Given the description of an element on the screen output the (x, y) to click on. 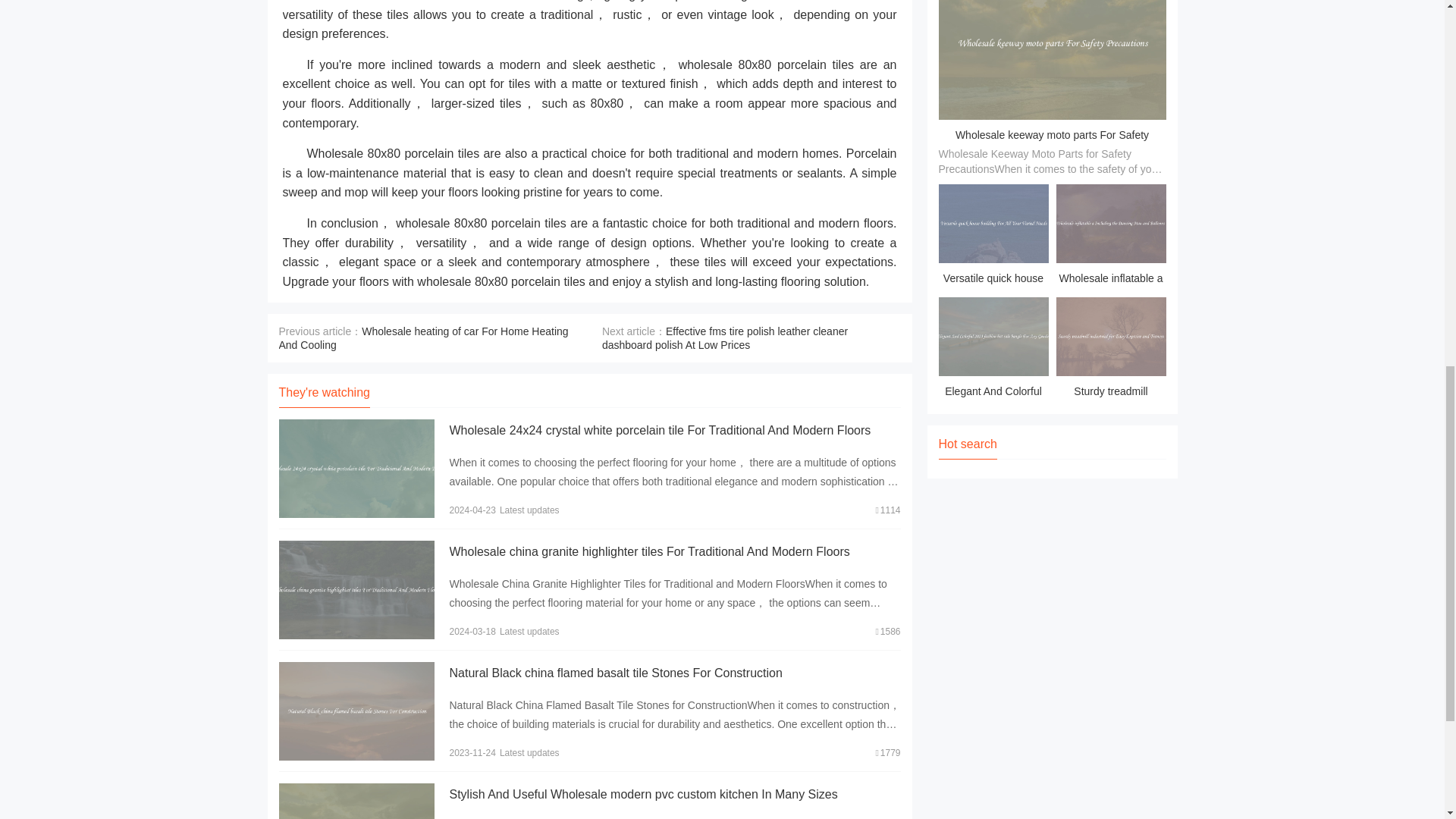
Wholesale keeway moto parts For Safety Precautions (1051, 145)
Wholesale heating of car For Home Heating And Cooling (424, 338)
Versatile quick house building For All Your Varied Needs (993, 236)
Sturdy treadmill industrial for Easy Exercise and Fitness (1110, 349)
